Given the description of an element on the screen output the (x, y) to click on. 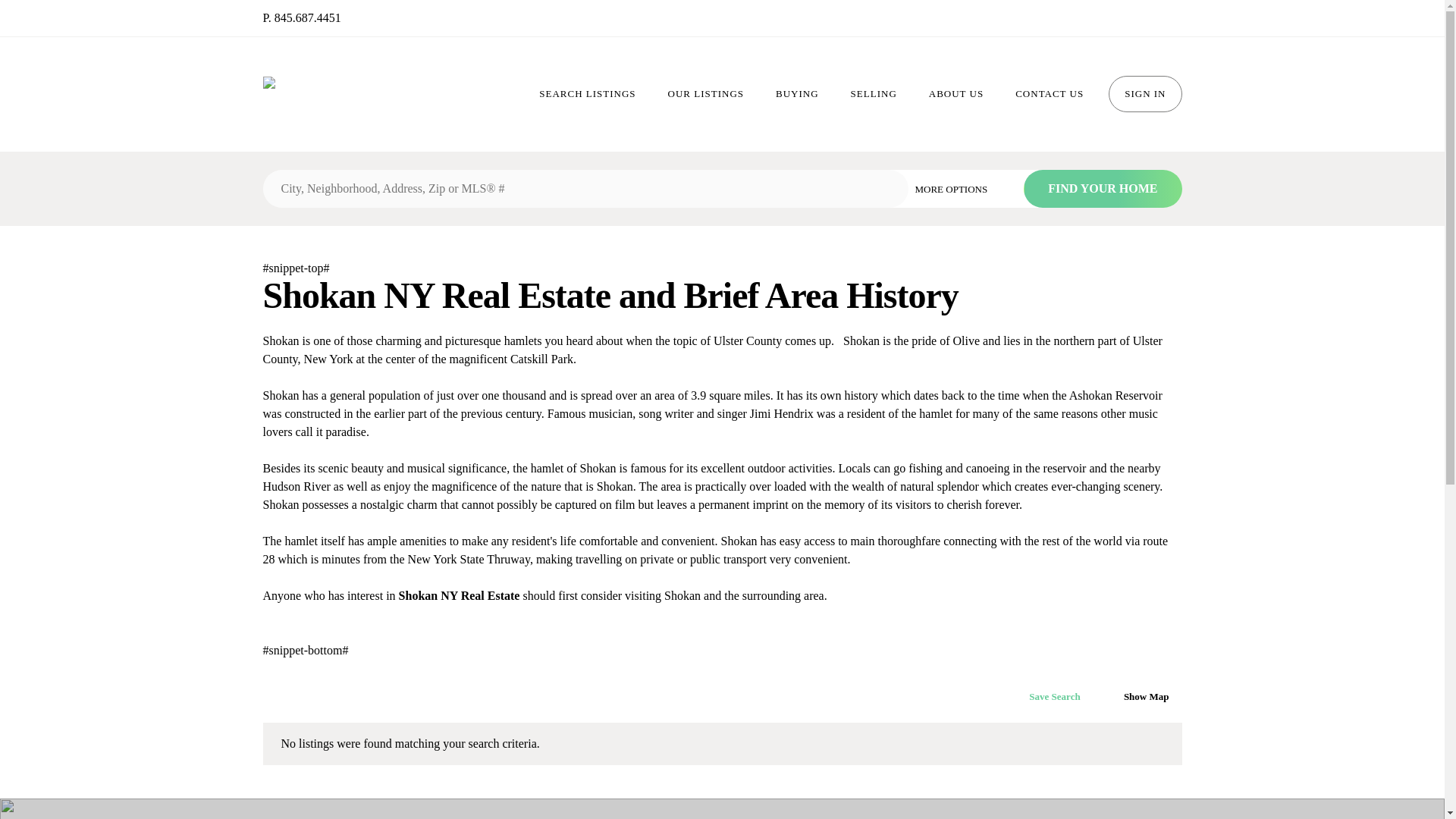
BUYING (797, 94)
FIND YOUR HOME (1101, 188)
Show Map (1139, 696)
Save Search (1046, 696)
SIGN IN (1144, 94)
MORE OPTIONS (962, 188)
P. 845.687.4451 (301, 17)
CONTACT US (1048, 94)
ABOUT US (955, 94)
SEARCH LISTINGS (586, 94)
